Given the description of an element on the screen output the (x, y) to click on. 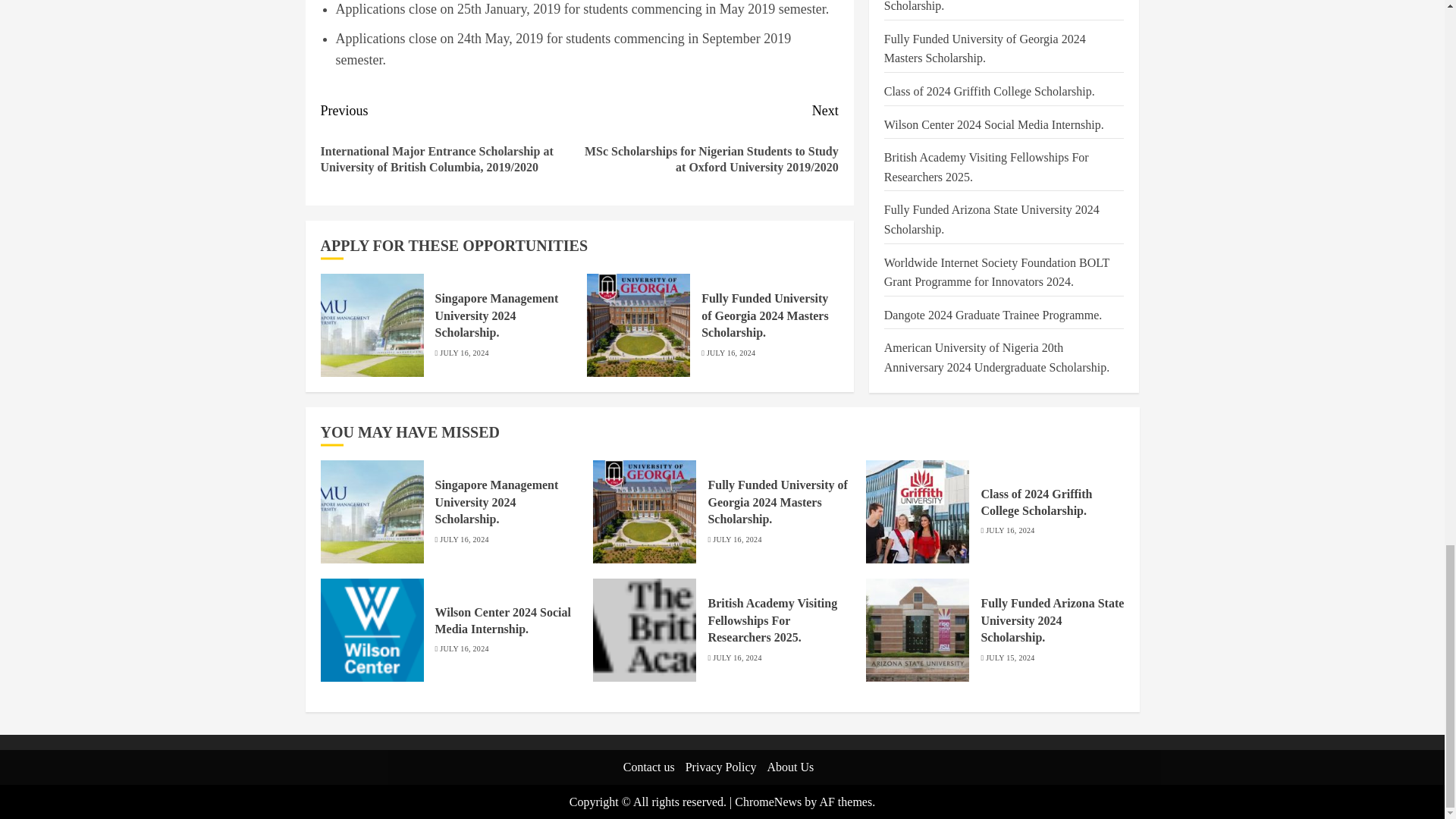
Singapore Management University 2024 Scholarship. (371, 324)
Fully Funded University of Georgia 2024 Masters Scholarship. (764, 315)
JULY 16, 2024 (463, 353)
Fully Funded University of Georgia 2024 Masters Scholarship. (638, 324)
JULY 16, 2024 (730, 353)
Singapore Management University 2024 Scholarship. (497, 315)
